Given the description of an element on the screen output the (x, y) to click on. 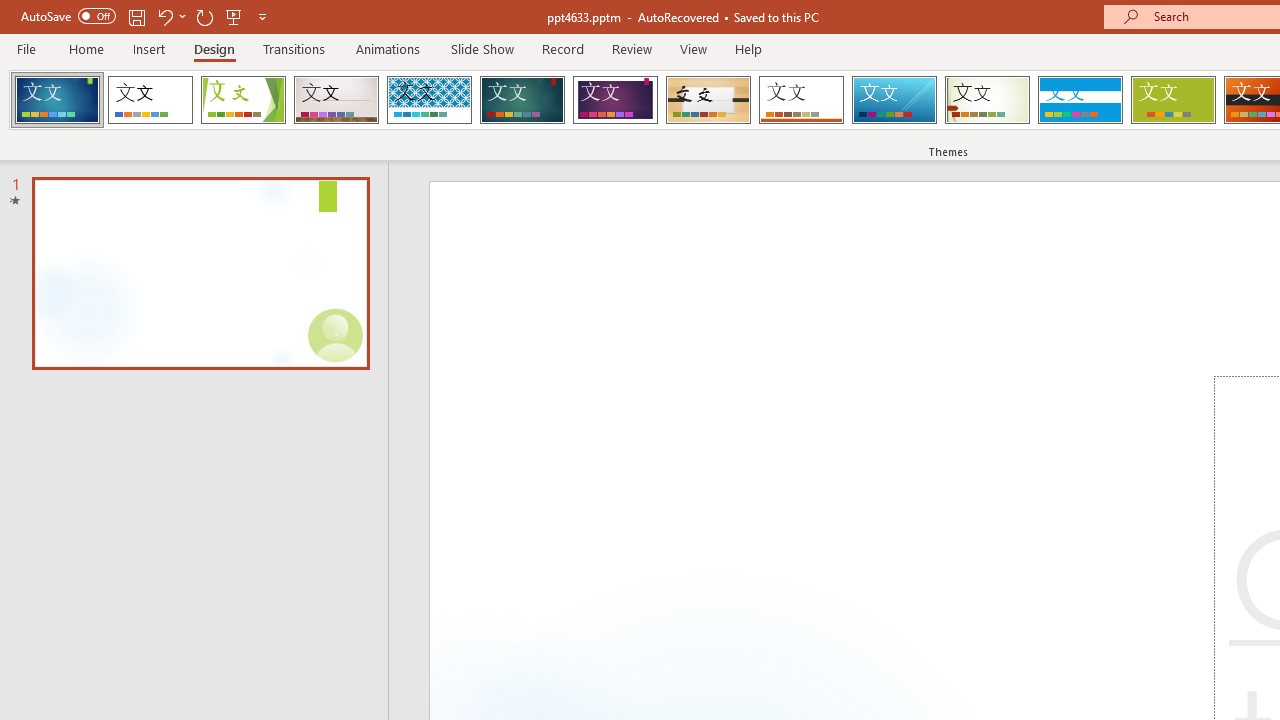
Ion (522, 100)
Office Theme (150, 100)
Wisp Loading Preview... (987, 100)
Organic Loading Preview... (708, 100)
Banded Loading Preview... (1080, 100)
